Given the description of an element on the screen output the (x, y) to click on. 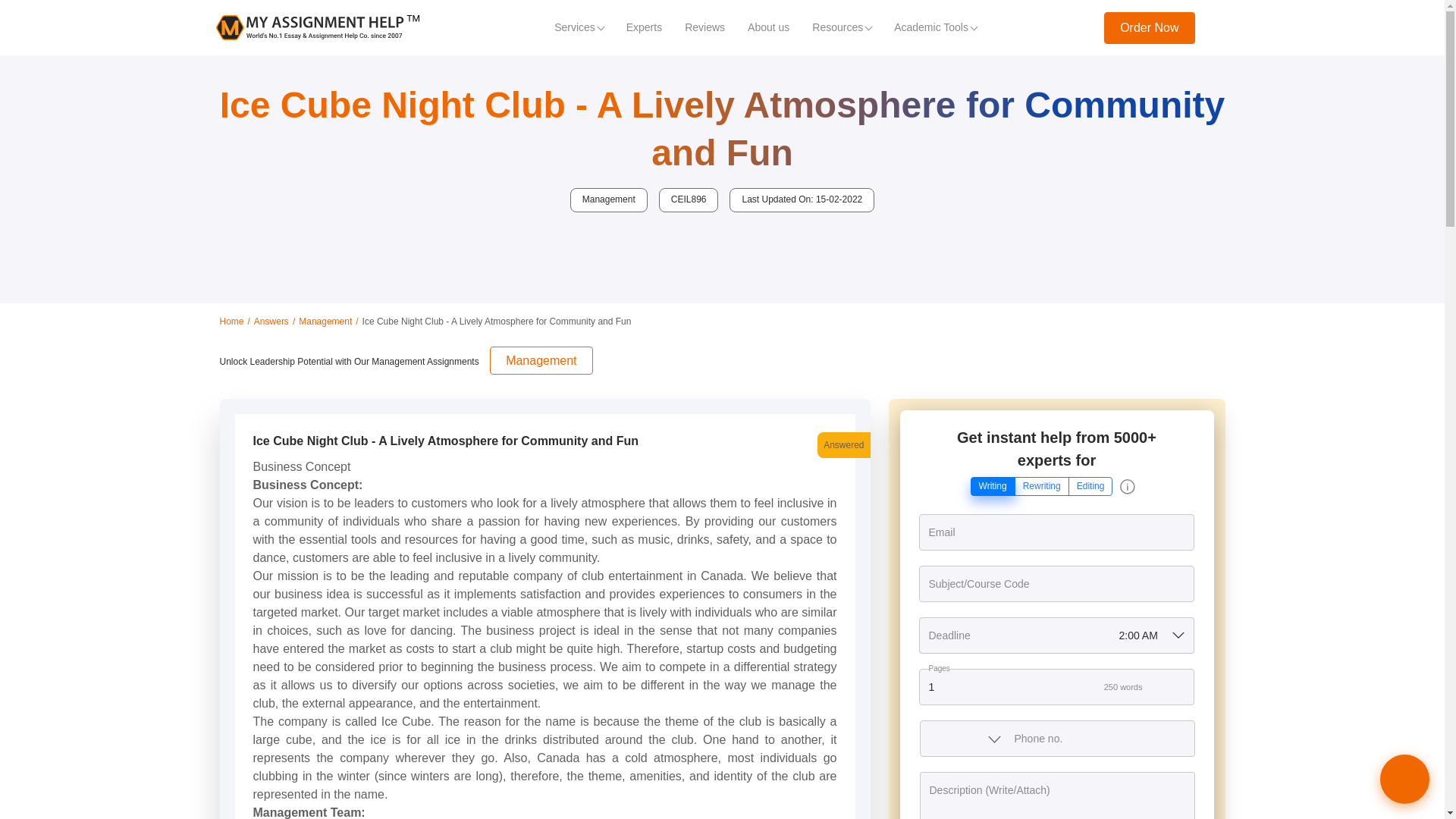
menu (1218, 27)
Info (1127, 486)
myassignmenthelp (317, 27)
1 (1055, 687)
plus (1181, 687)
Reviews (704, 27)
Experts (643, 27)
Resources (841, 27)
Services (578, 27)
About us (768, 27)
Academic Tools (935, 27)
